Given the description of an element on the screen output the (x, y) to click on. 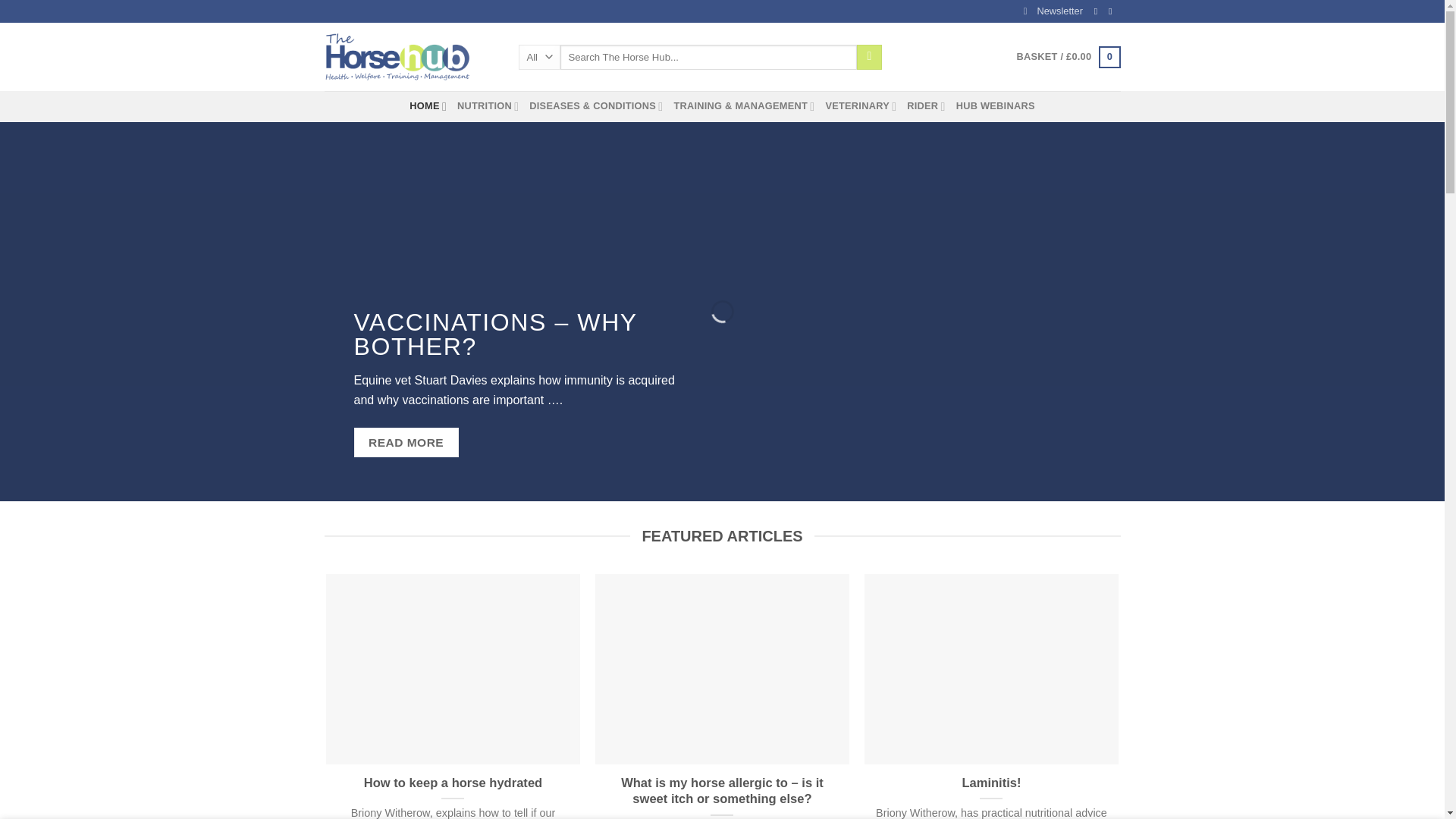
NUTRITION (487, 105)
READ MORE (405, 460)
Sign up for Newsletter (1053, 11)
HOME (427, 105)
Search (869, 57)
Basket (1067, 57)
The Horse Hub - horse training and health information (410, 56)
HUB WEBINARS (995, 105)
RIDER (925, 105)
VETERINARY (860, 105)
Newsletter (1053, 11)
